Given the description of an element on the screen output the (x, y) to click on. 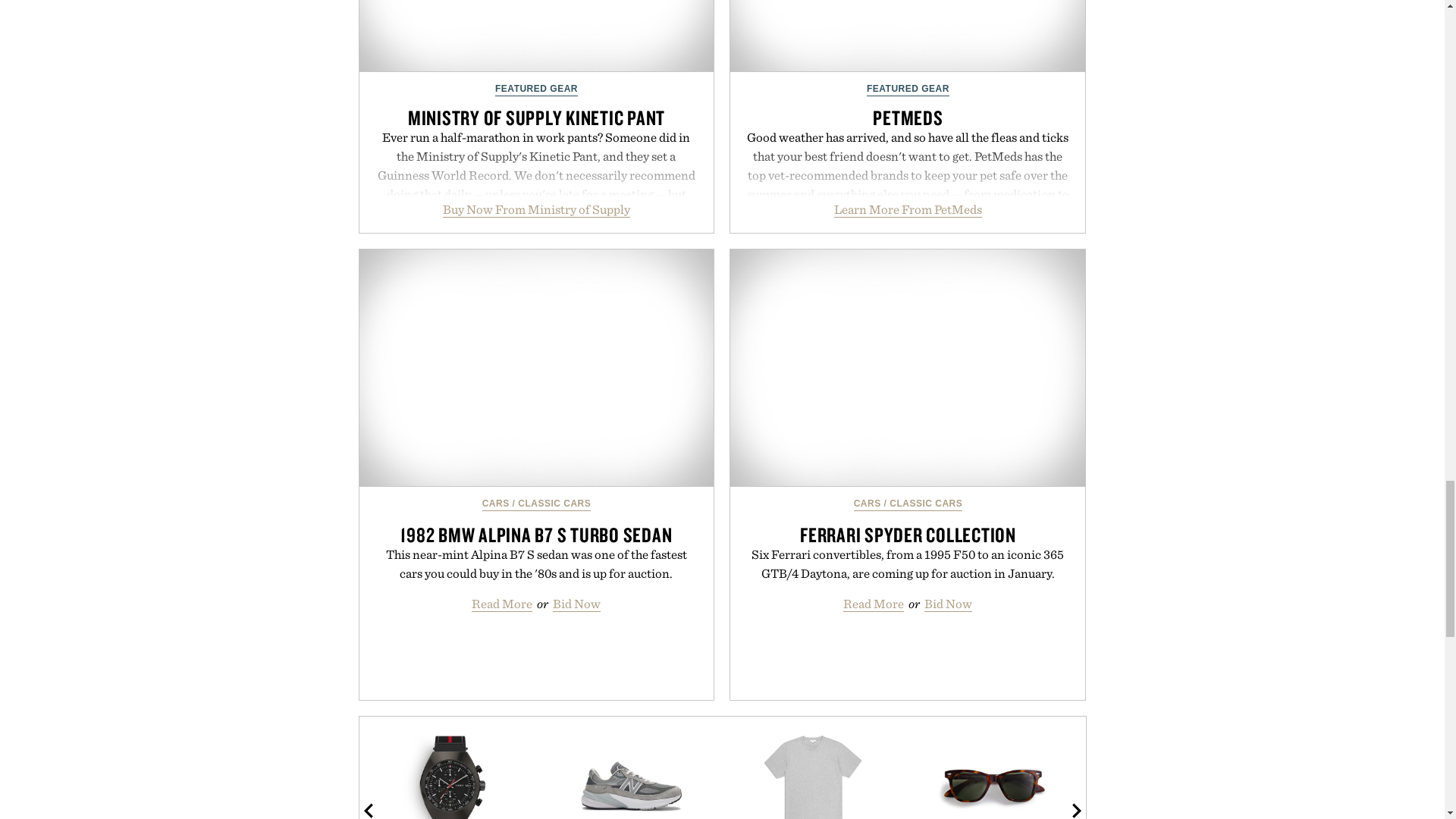
Ministry of Supply Kinetic Pant (536, 36)
PetMeds (907, 36)
Ferrari Spyder Collection (907, 367)
1982 BMW Alpina B7 S Turbo Sedan (536, 367)
